Given the description of an element on the screen output the (x, y) to click on. 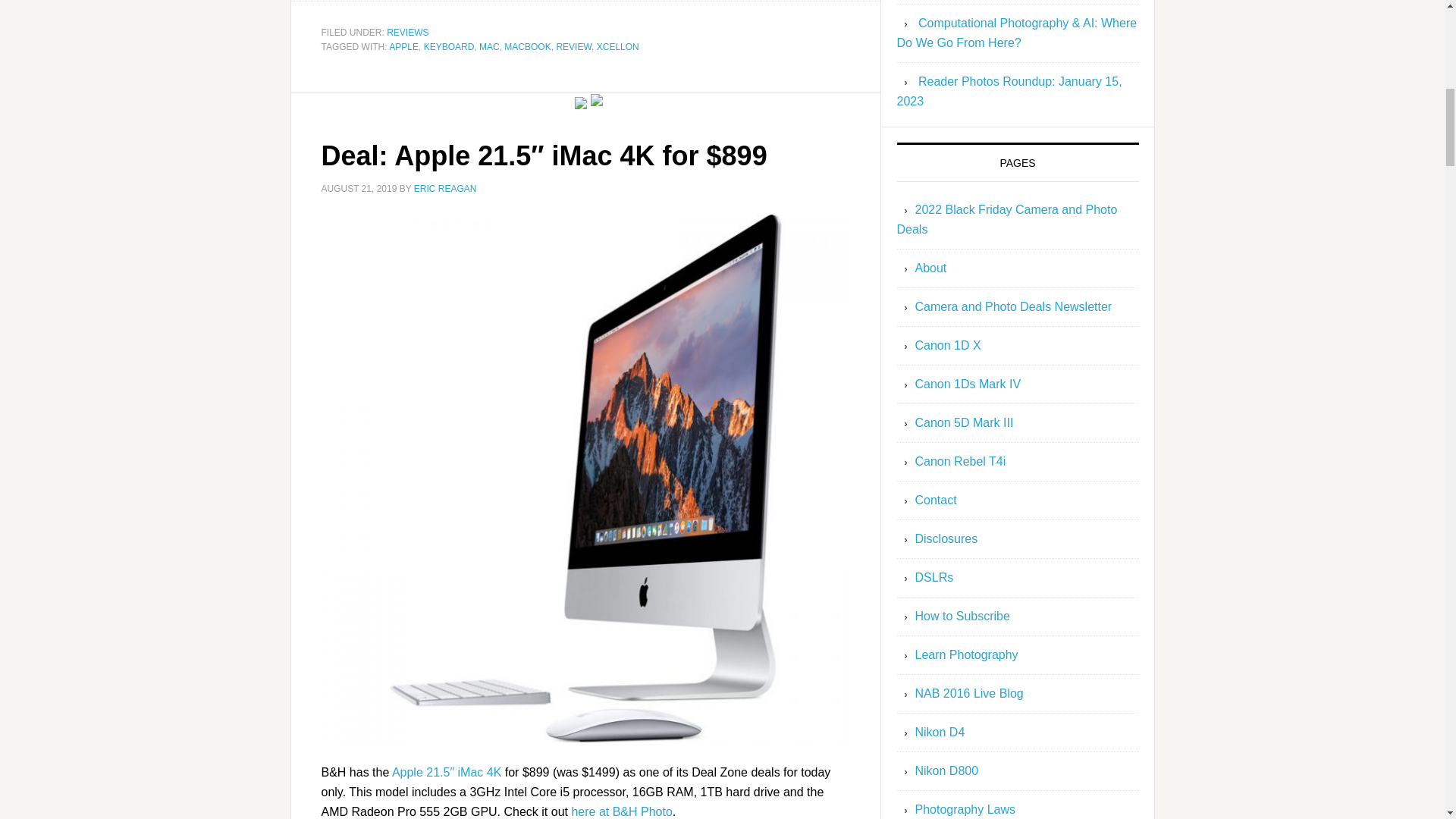
REVIEW (573, 46)
ERIC REAGAN (445, 188)
REVIEWS (407, 32)
MACBOOK (526, 46)
MAC (489, 46)
XCELLON (617, 46)
KEYBOARD (448, 46)
APPLE (403, 46)
